Given the description of an element on the screen output the (x, y) to click on. 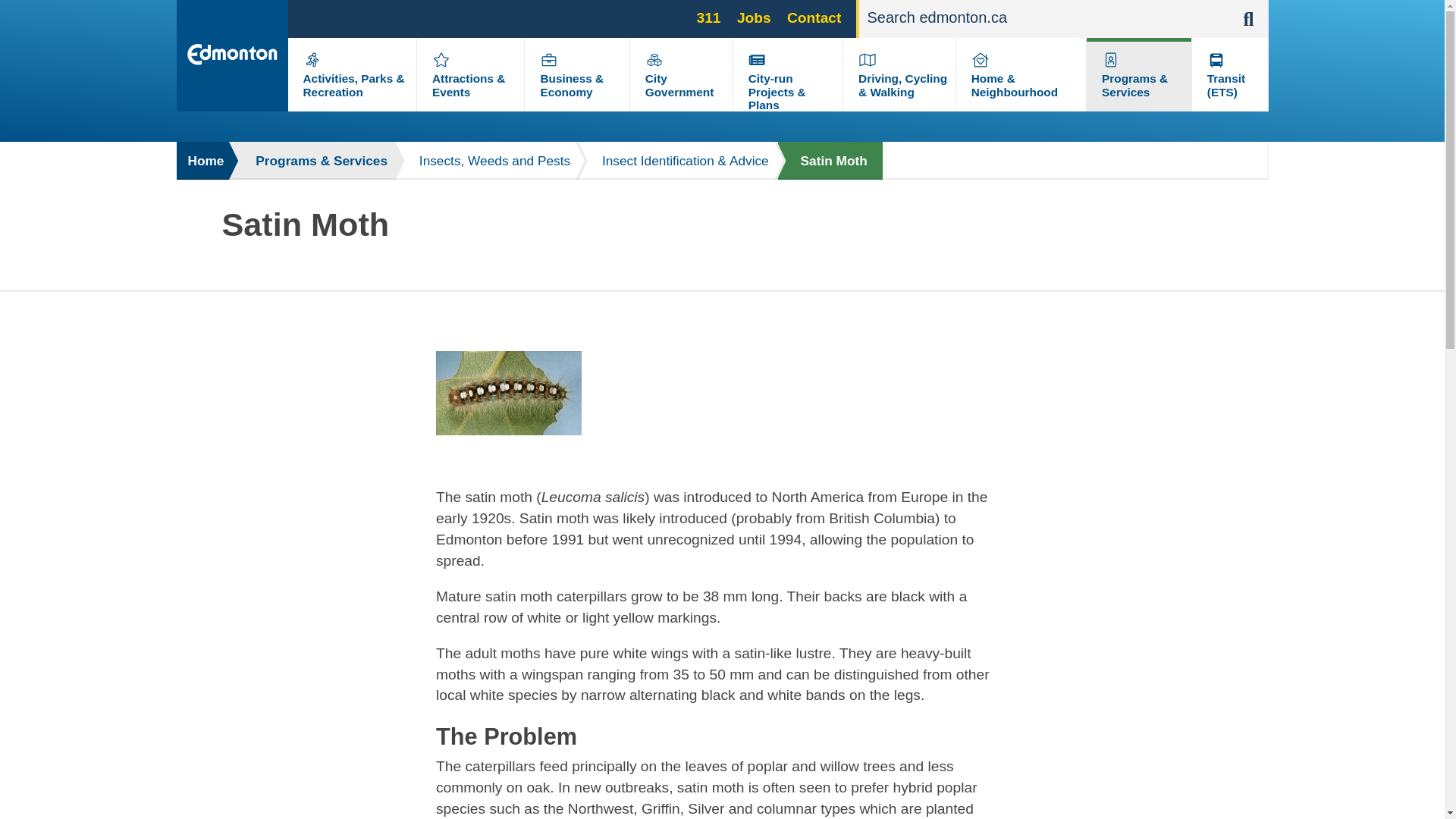
Contact (814, 17)
Satin Moth (829, 160)
311 (708, 17)
City Government (679, 85)
Insects, Weeds and Pests (487, 160)
Home (203, 160)
Jobs (753, 17)
